Given the description of an element on the screen output the (x, y) to click on. 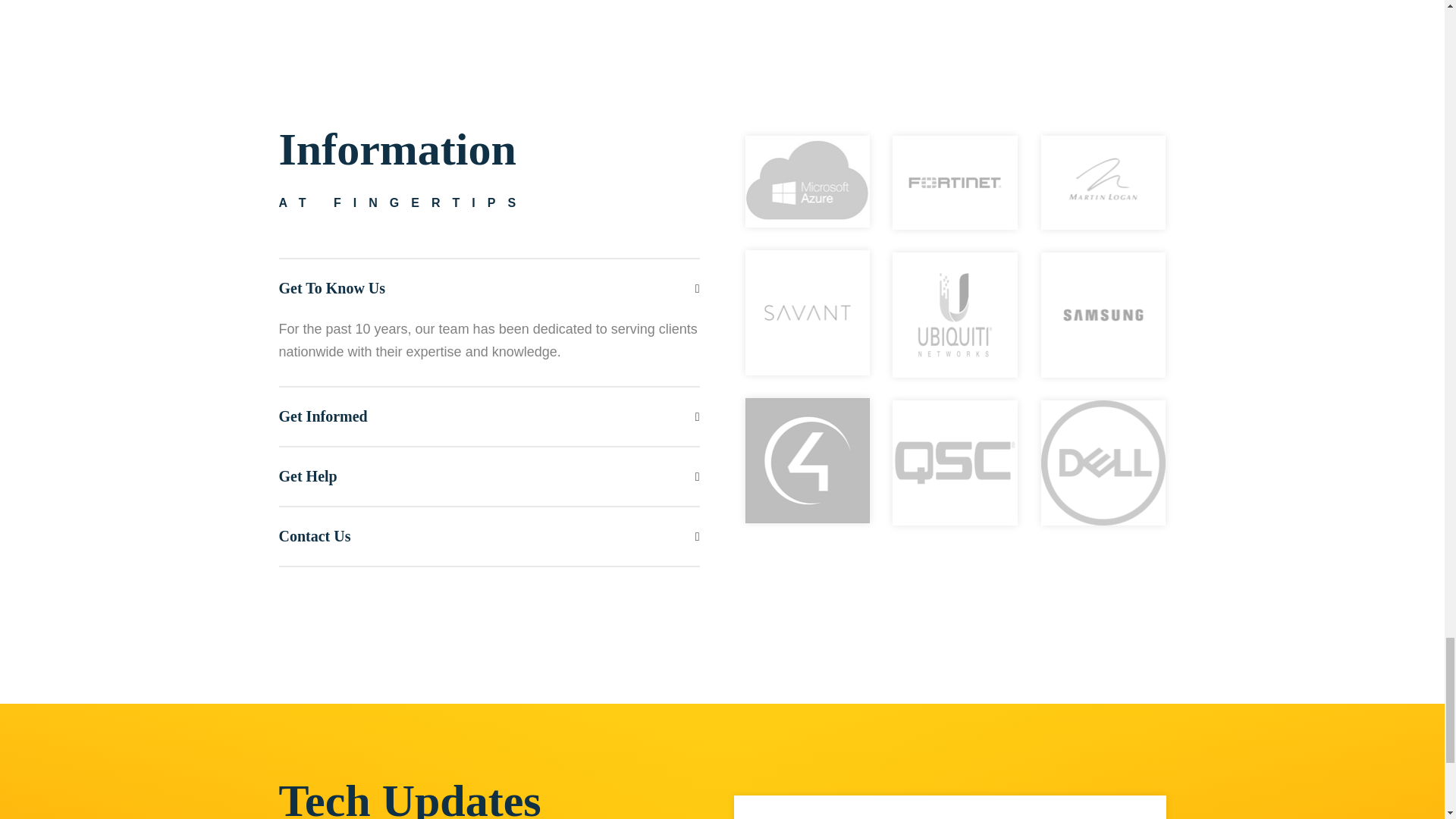
Get To Know Us (489, 288)
Get Help (489, 476)
Get Informed (489, 416)
SUBMIT (1135, 807)
Contact Us (489, 535)
